Given the description of an element on the screen output the (x, y) to click on. 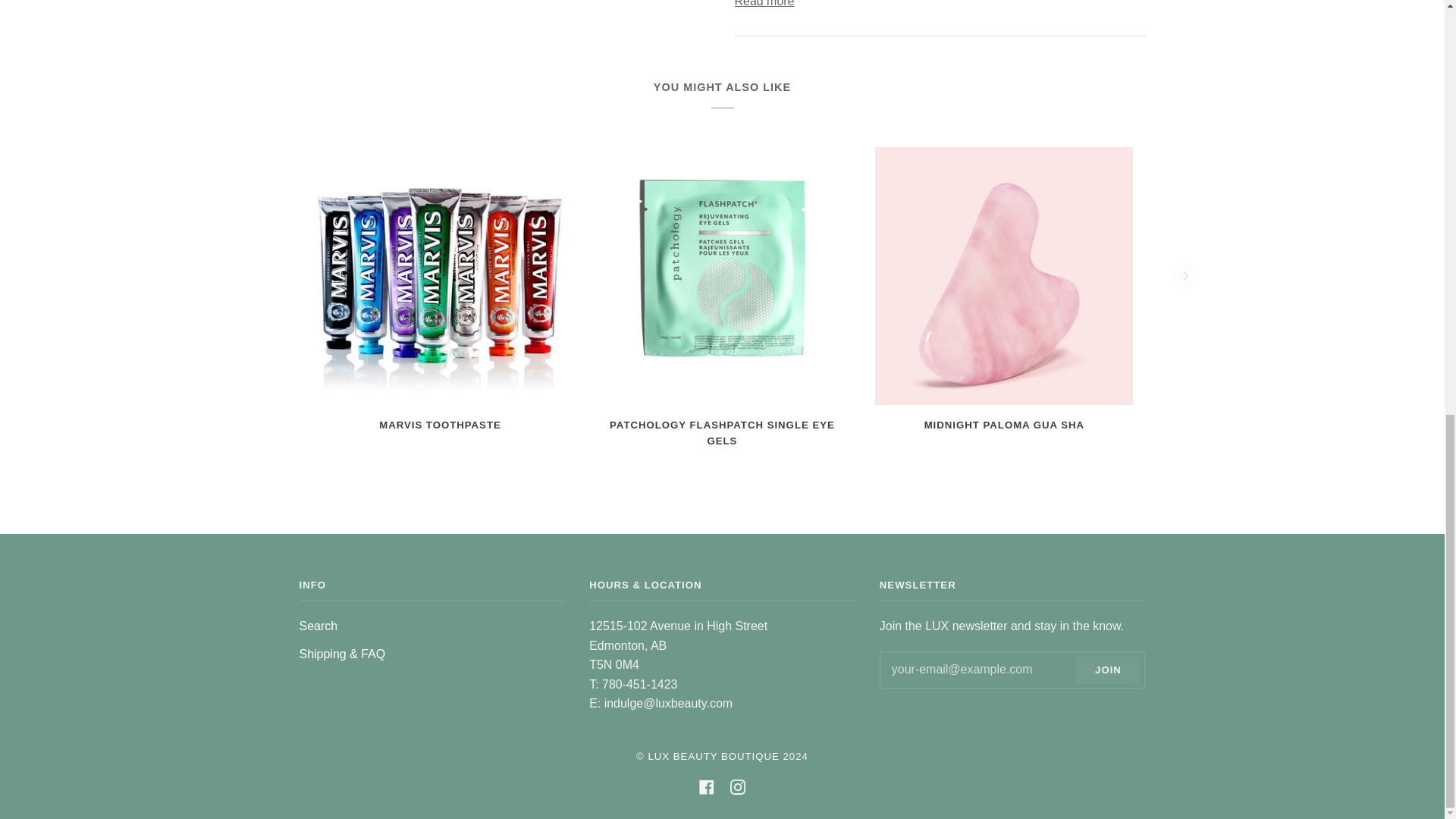
Instagram (737, 786)
Facebook (706, 786)
